Given the description of an element on the screen output the (x, y) to click on. 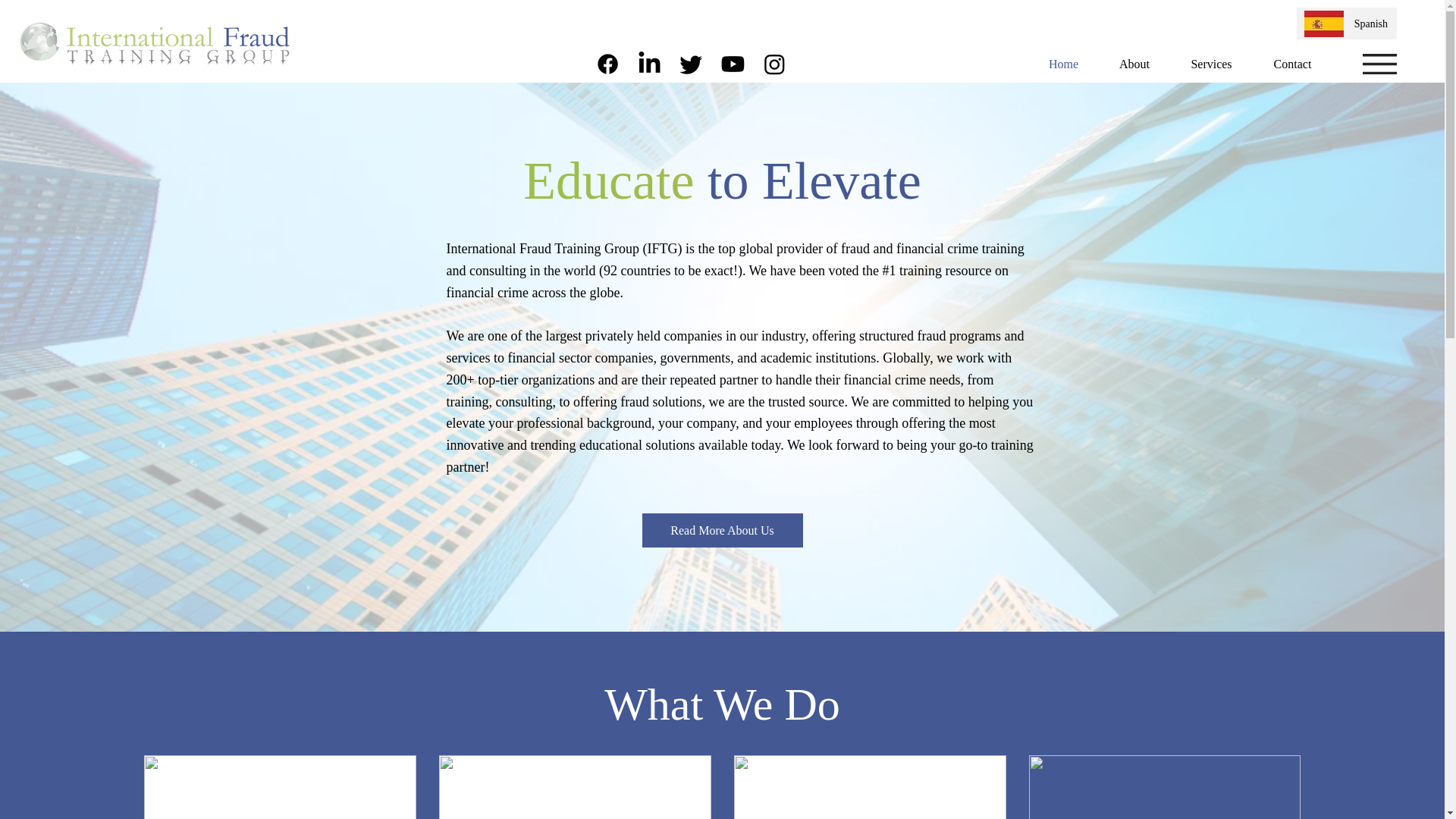
About (1134, 64)
Contact (1292, 64)
Read More About Us (722, 530)
Services (1211, 64)
Spanish (1367, 24)
Home (1063, 64)
